Given the description of an element on the screen output the (x, y) to click on. 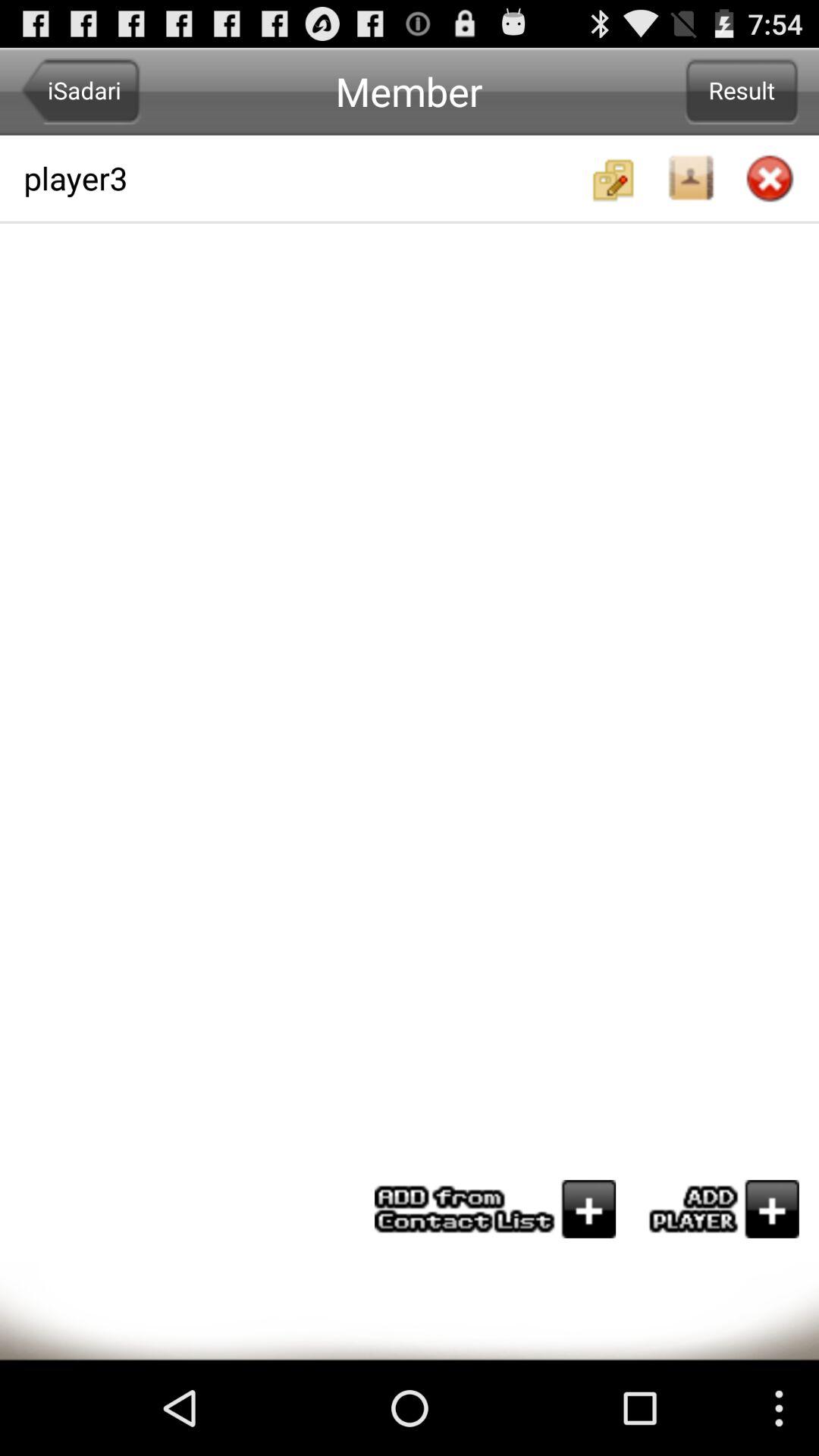
remove item (770, 179)
